Given the description of an element on the screen output the (x, y) to click on. 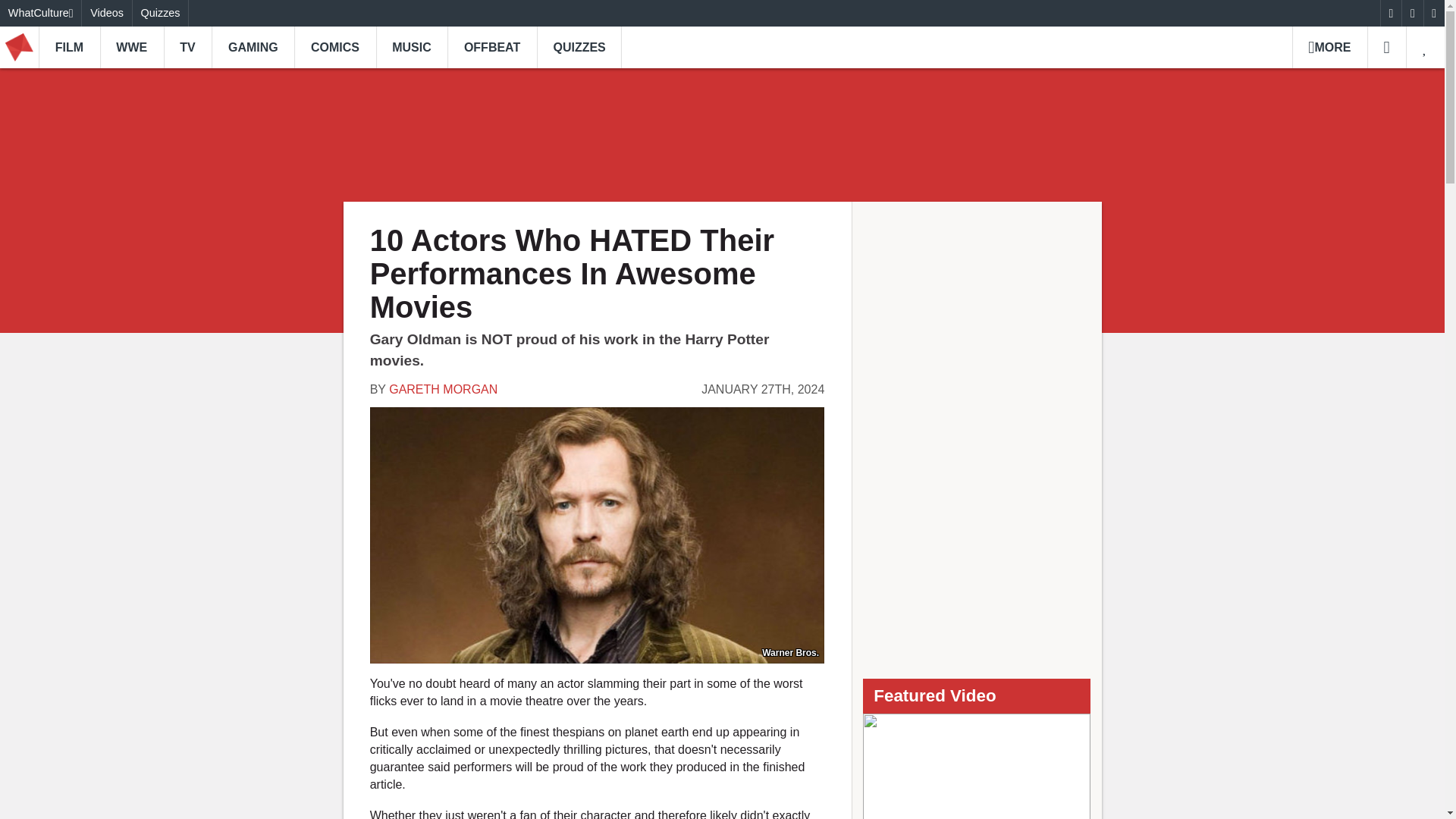
FILM (69, 46)
WWE (131, 46)
SEARCH (1386, 46)
MORE (1329, 46)
COMICS (334, 46)
TV (187, 46)
QUIZZES (580, 46)
MUSIC (411, 46)
Search (1386, 46)
OFFBEAT (491, 46)
